Given the description of an element on the screen output the (x, y) to click on. 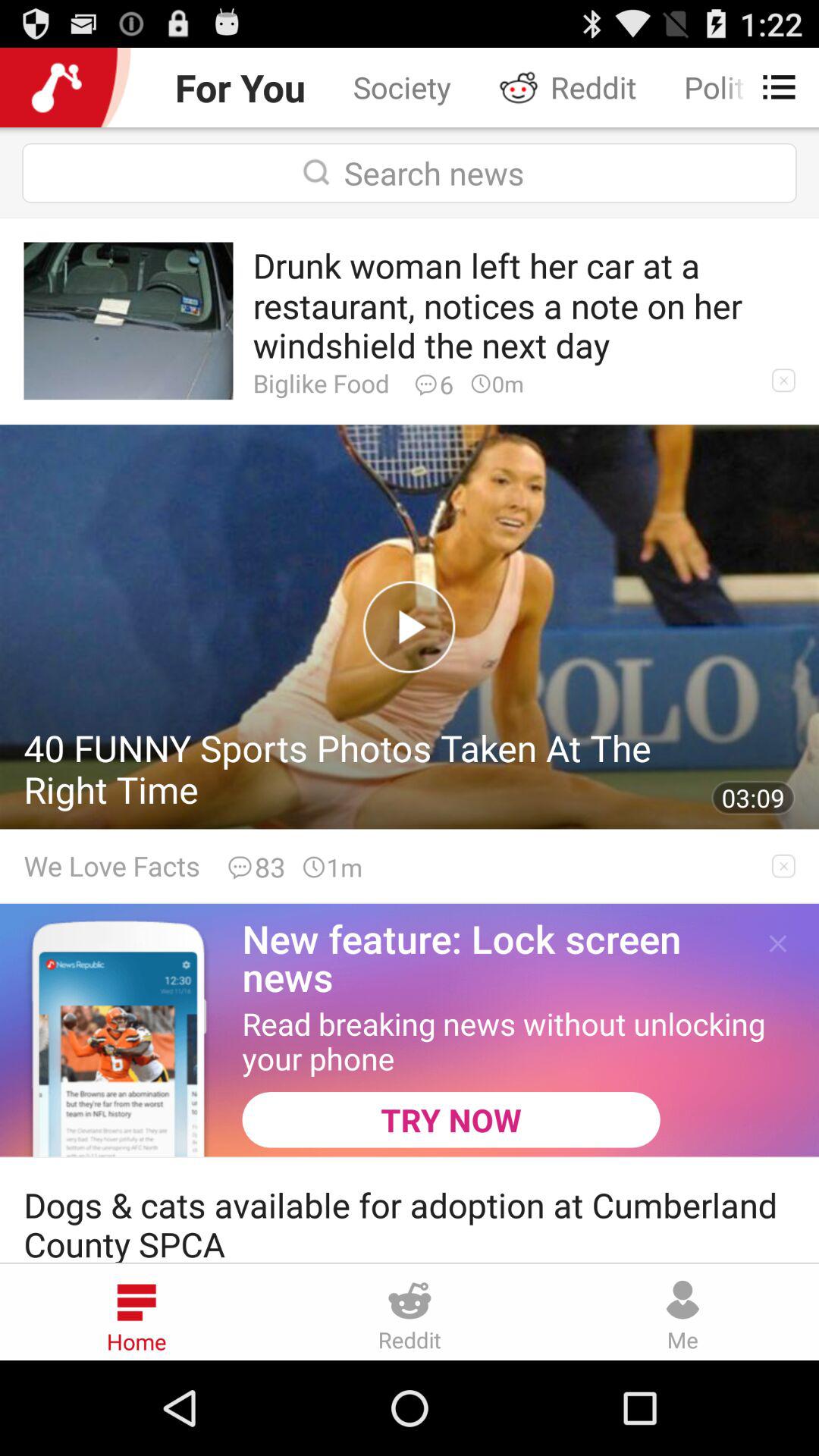
open the app below the read breaking news item (451, 1119)
